Given the description of an element on the screen output the (x, y) to click on. 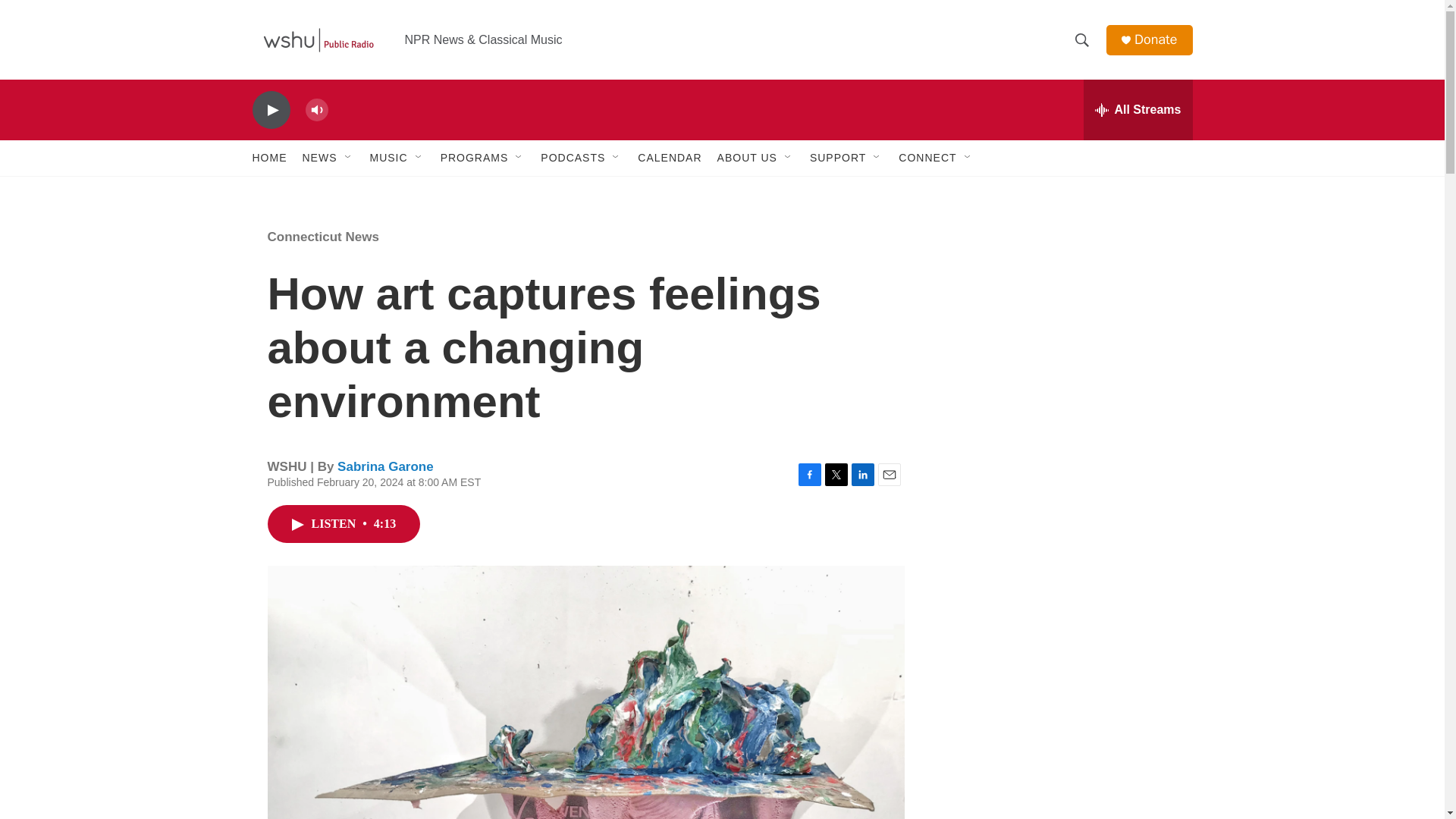
3rd party ad content (1062, 316)
3rd party ad content (1062, 536)
3rd party ad content (1062, 740)
